Given the description of an element on the screen output the (x, y) to click on. 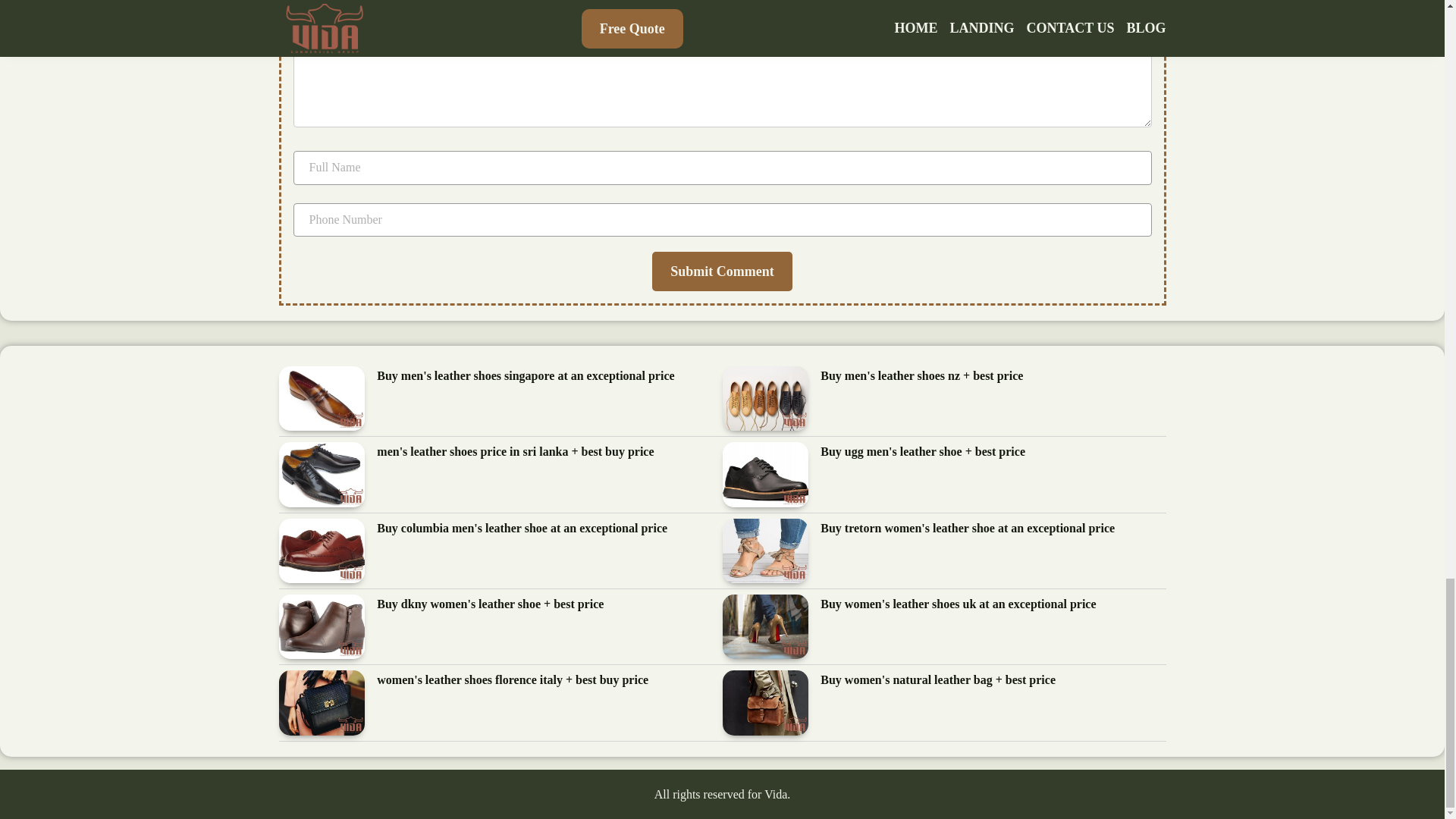
Submit Comment (722, 271)
Buy columbia men's leather shoe at an exceptional price (521, 528)
Buy women's leather shoes uk at an exceptional price (958, 604)
Buy tretorn women's leather shoe at an exceptional price (968, 528)
Buy men's leather shoes singapore at an exceptional price (525, 376)
Submit Comment (722, 271)
